Given the description of an element on the screen output the (x, y) to click on. 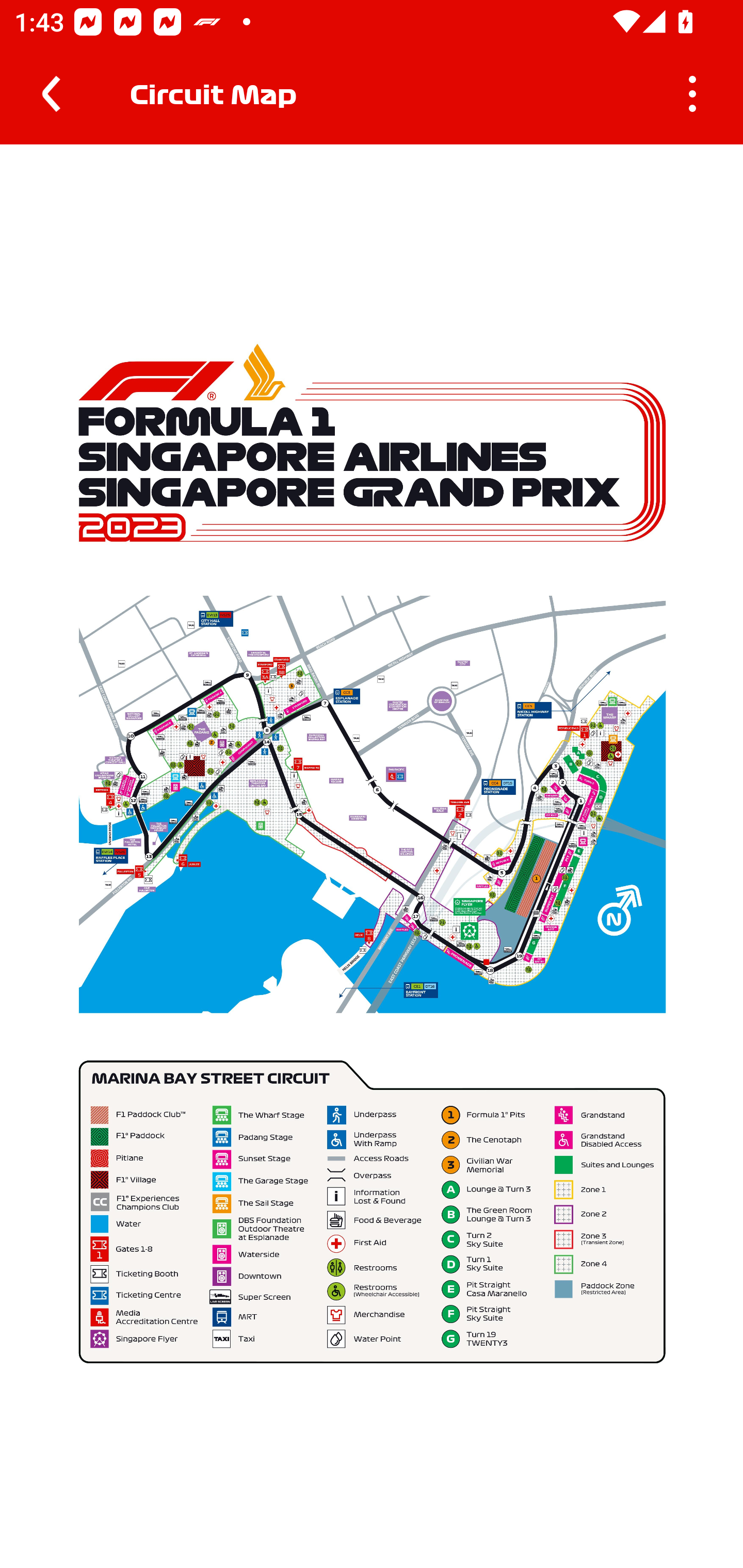
Navigate up (50, 93)
